Given the description of an element on the screen output the (x, y) to click on. 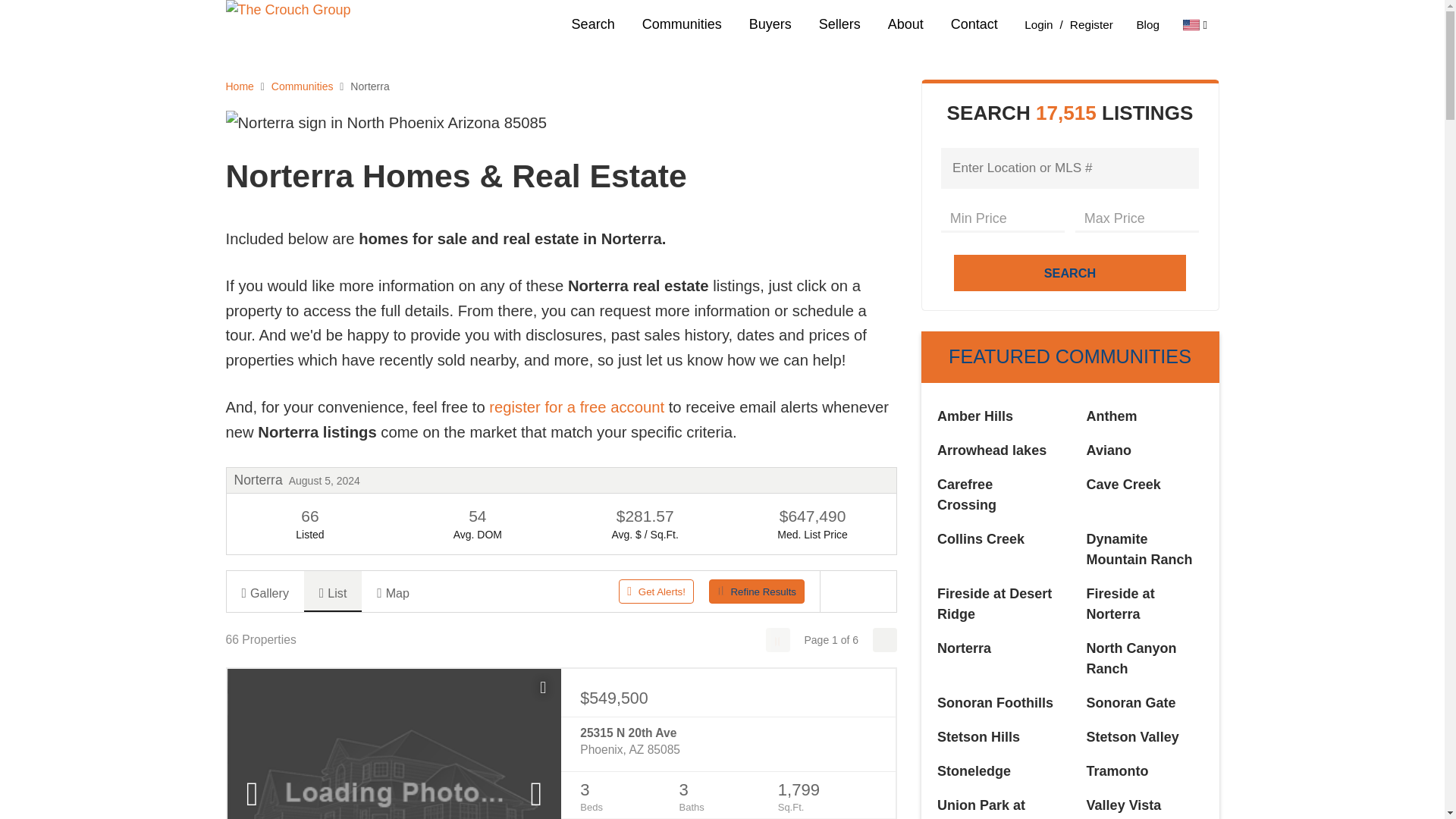
Buyers (769, 24)
Email Listing Alerts (576, 406)
Search (593, 24)
Login (1038, 24)
Norterra homes for sale in North Phoenix 85085 (386, 122)
Select Language (1194, 24)
Blog (1146, 24)
Communities (681, 24)
Home Page (338, 24)
Register (1085, 24)
25315 N 20th Ave Phoenix,  AZ 85085 (727, 741)
Sellers (839, 24)
